Given the description of an element on the screen output the (x, y) to click on. 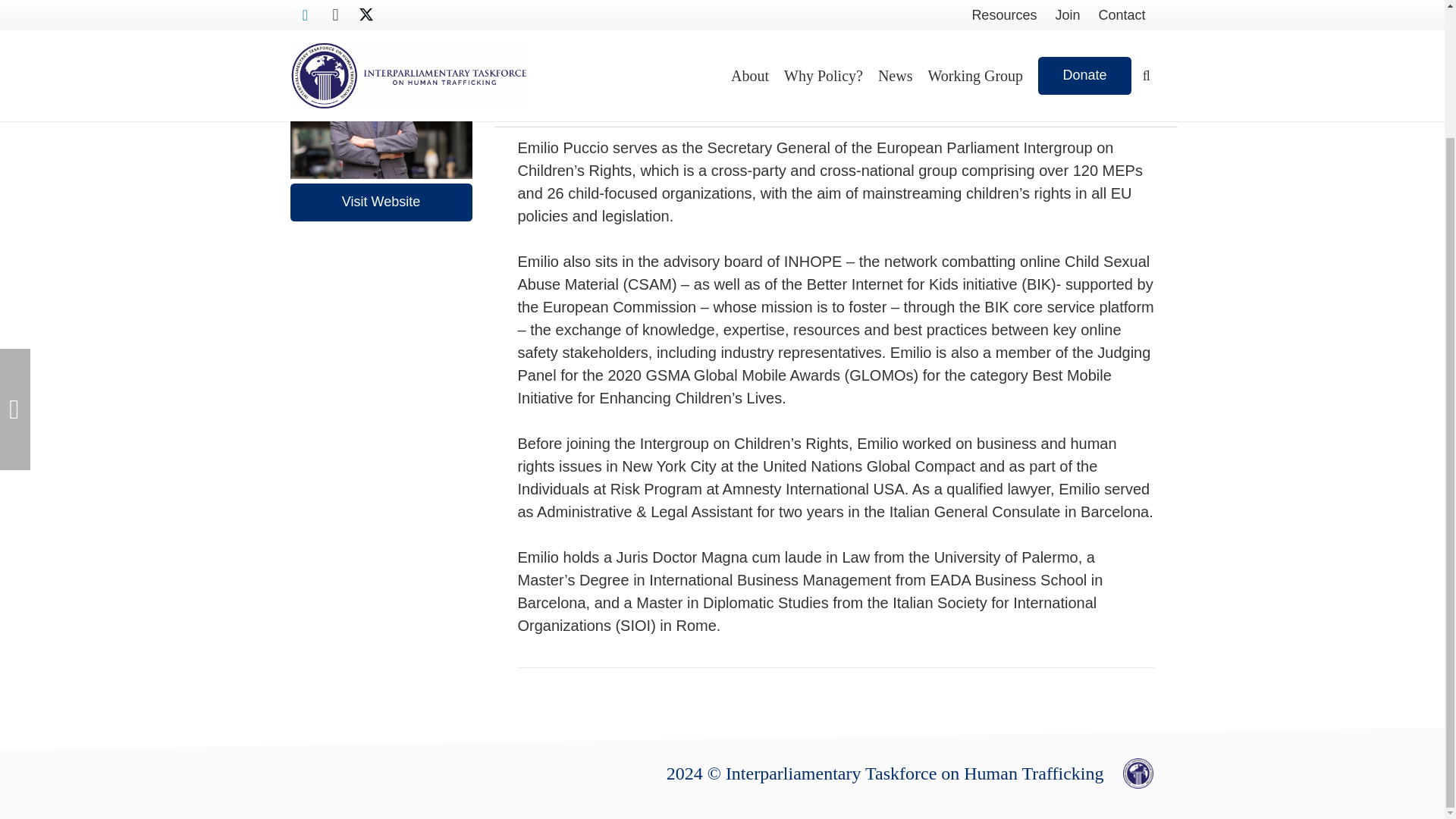
Visit Website (380, 202)
Hon. Anne Musiwa (15, 254)
